Given the description of an element on the screen output the (x, y) to click on. 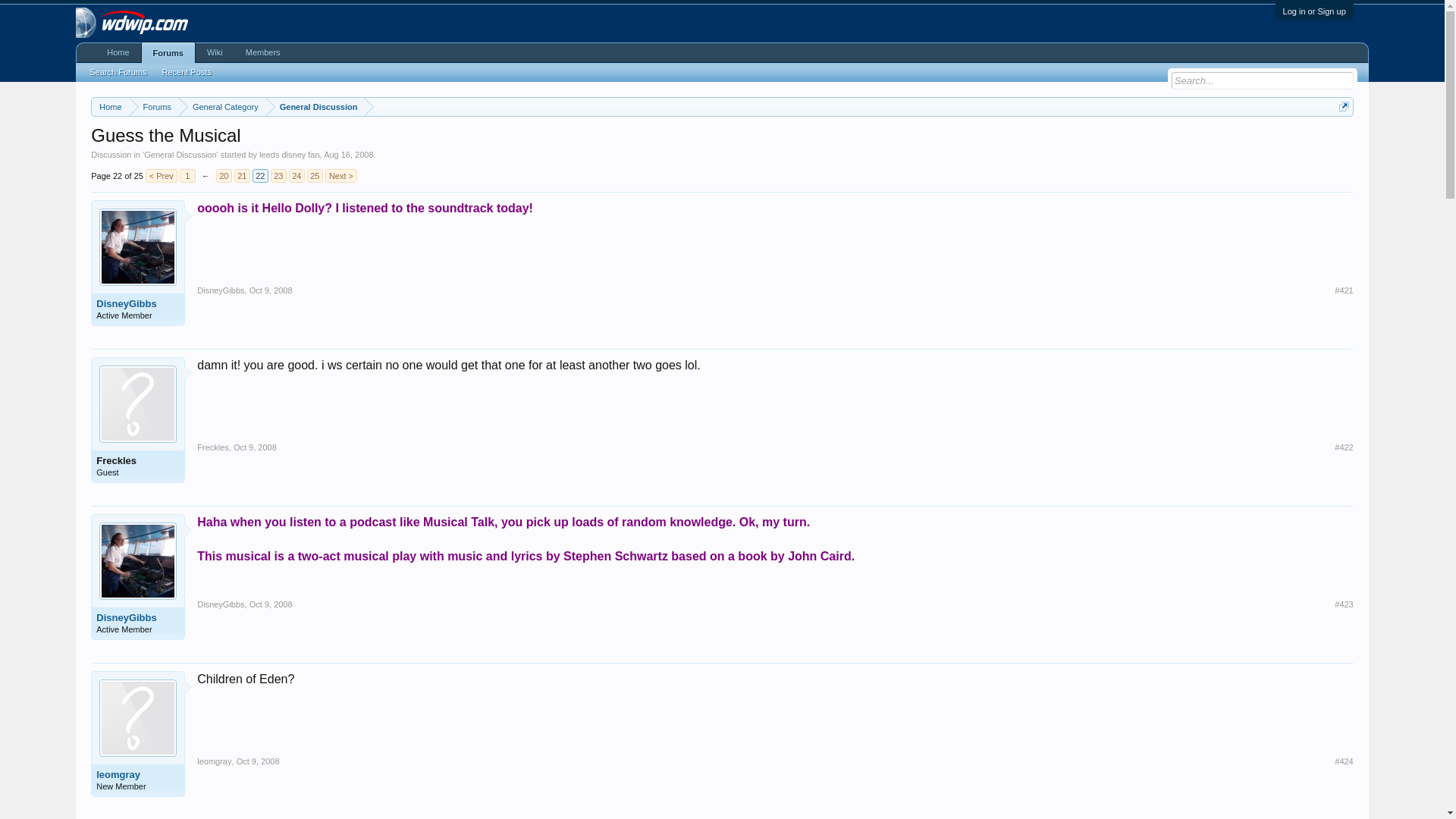
Permalink (254, 447)
Permalink (1343, 447)
General Discussion (315, 107)
leomgray (213, 760)
DisneyGibbs (137, 617)
Aug 16, 2008 (347, 153)
General Discussion (179, 153)
20 (223, 175)
Aug 16, 2008 at 6:04 PM (347, 153)
Freckles (212, 447)
